Given the description of an element on the screen output the (x, y) to click on. 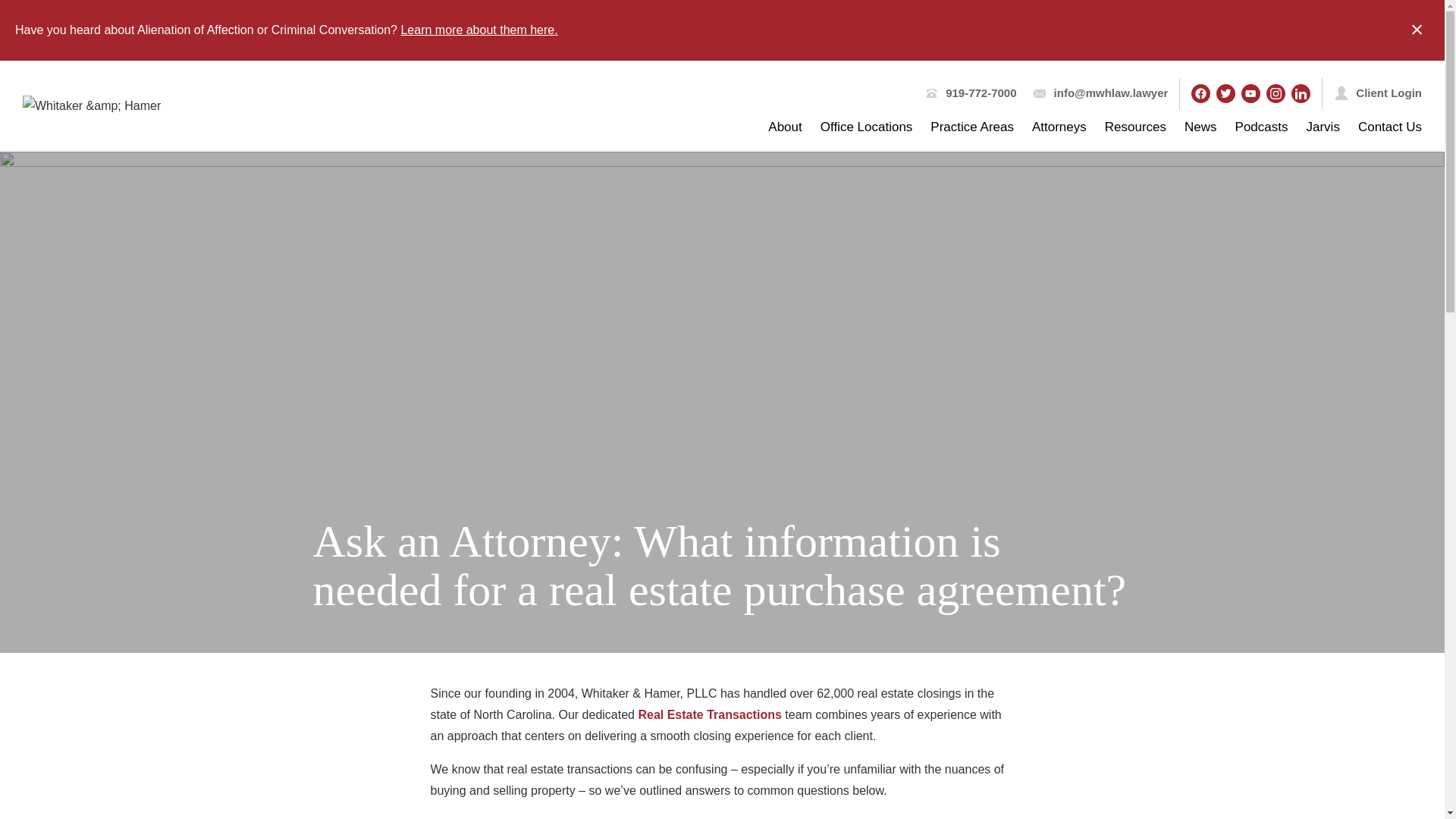
Office Locations (866, 127)
Jarvis (1322, 127)
About (785, 127)
919-772-7000 (980, 92)
Real Estate Transactions (708, 714)
Attorneys (1059, 127)
Contact Us (1390, 127)
Learn more about them here. (478, 29)
News (1201, 127)
